Given the description of an element on the screen output the (x, y) to click on. 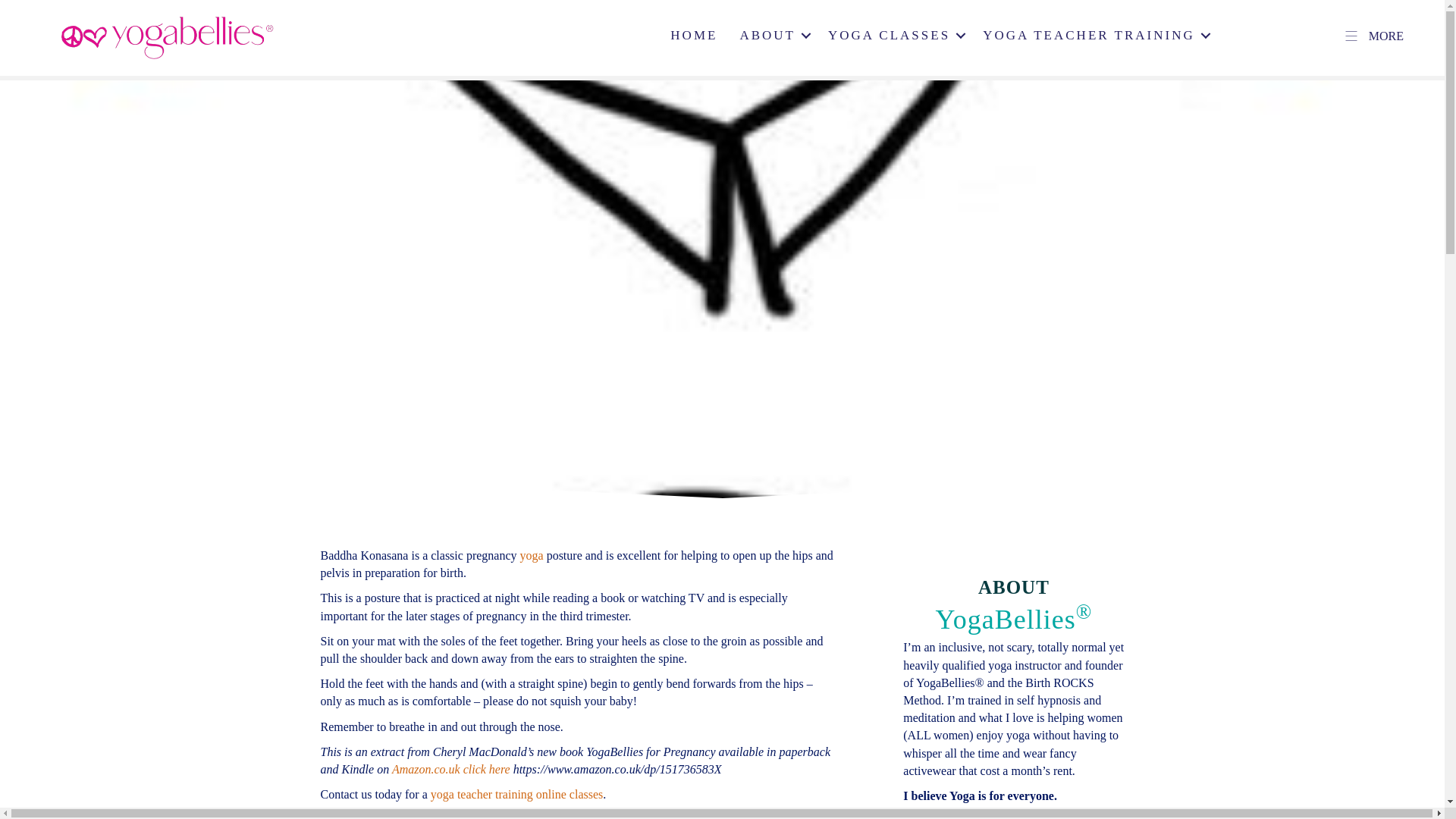
YOGA CLASSES (893, 35)
HOME (693, 35)
ABOUT (772, 35)
YOGA TEACHER TRAINING (1093, 35)
MORE (1373, 35)
logo retina (167, 37)
